Given the description of an element on the screen output the (x, y) to click on. 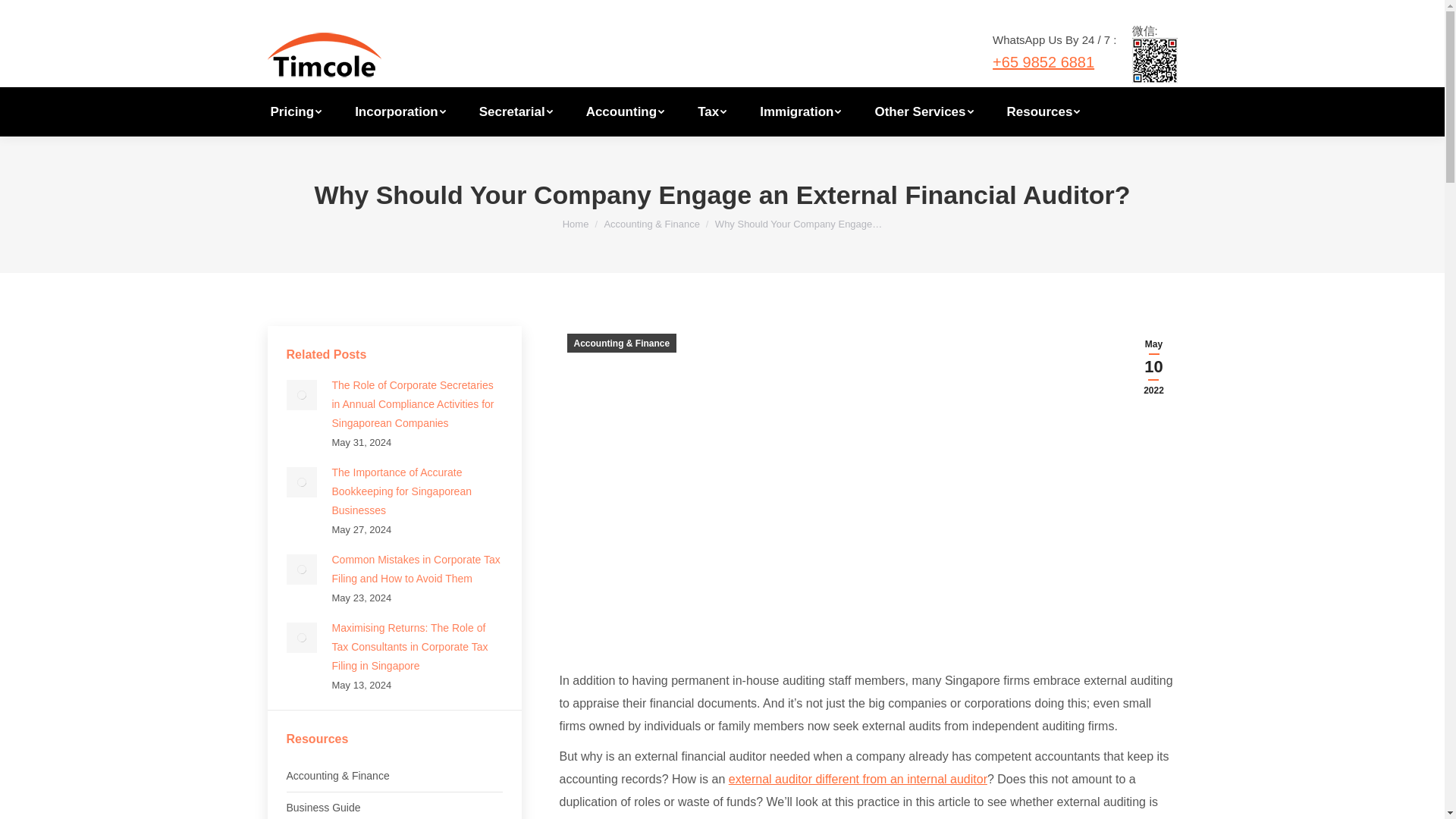
Incorporation (400, 111)
Accounting (625, 111)
Secretarial (516, 111)
Pricing (295, 111)
